Given the description of an element on the screen output the (x, y) to click on. 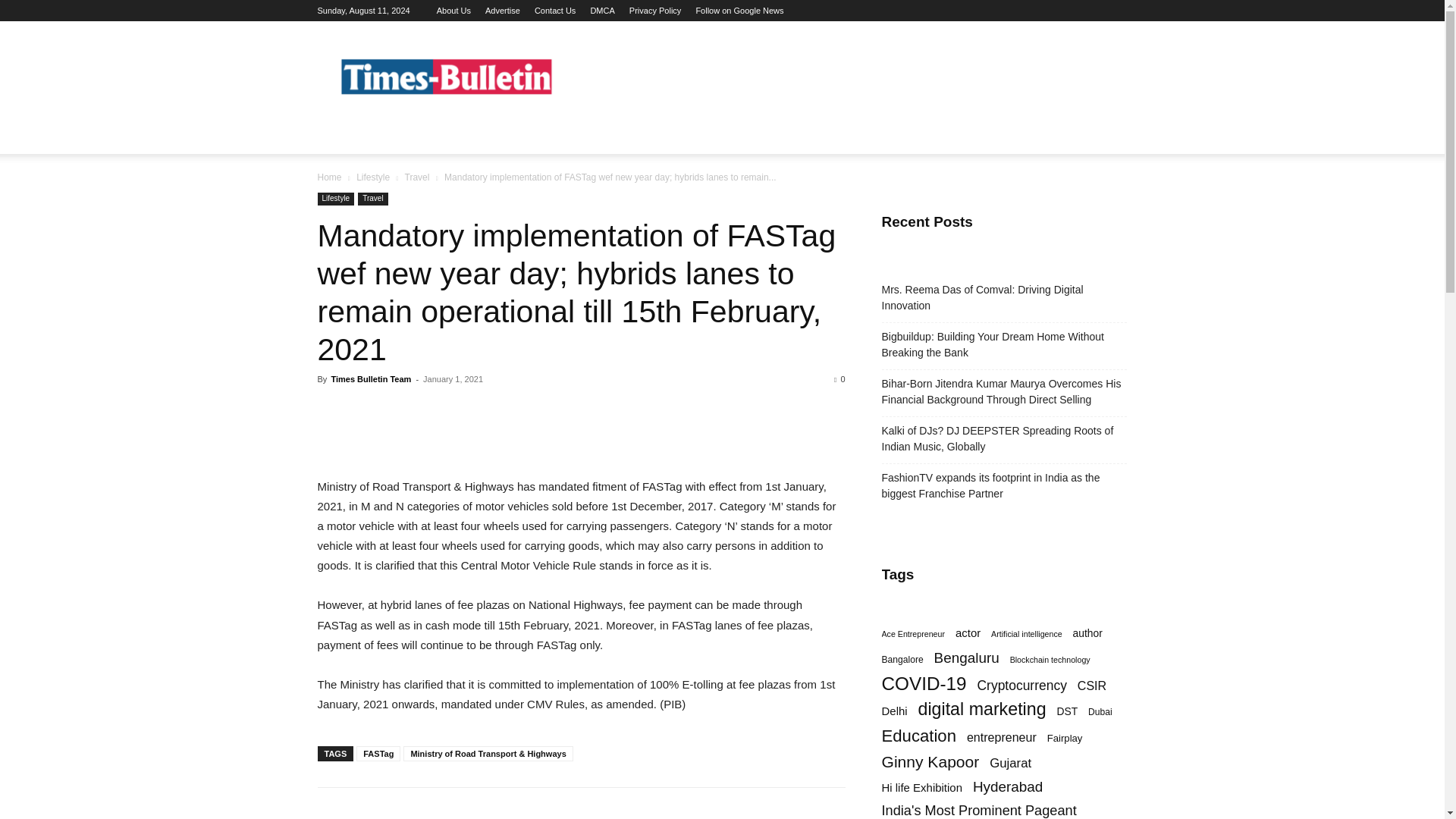
View all posts in Lifestyle (373, 176)
Contact Us (554, 10)
View all posts in Travel (416, 176)
Privacy Policy (654, 10)
Advertise (501, 10)
About Us (453, 10)
Follow on Google News (739, 10)
DMCA (601, 10)
